Given the description of an element on the screen output the (x, y) to click on. 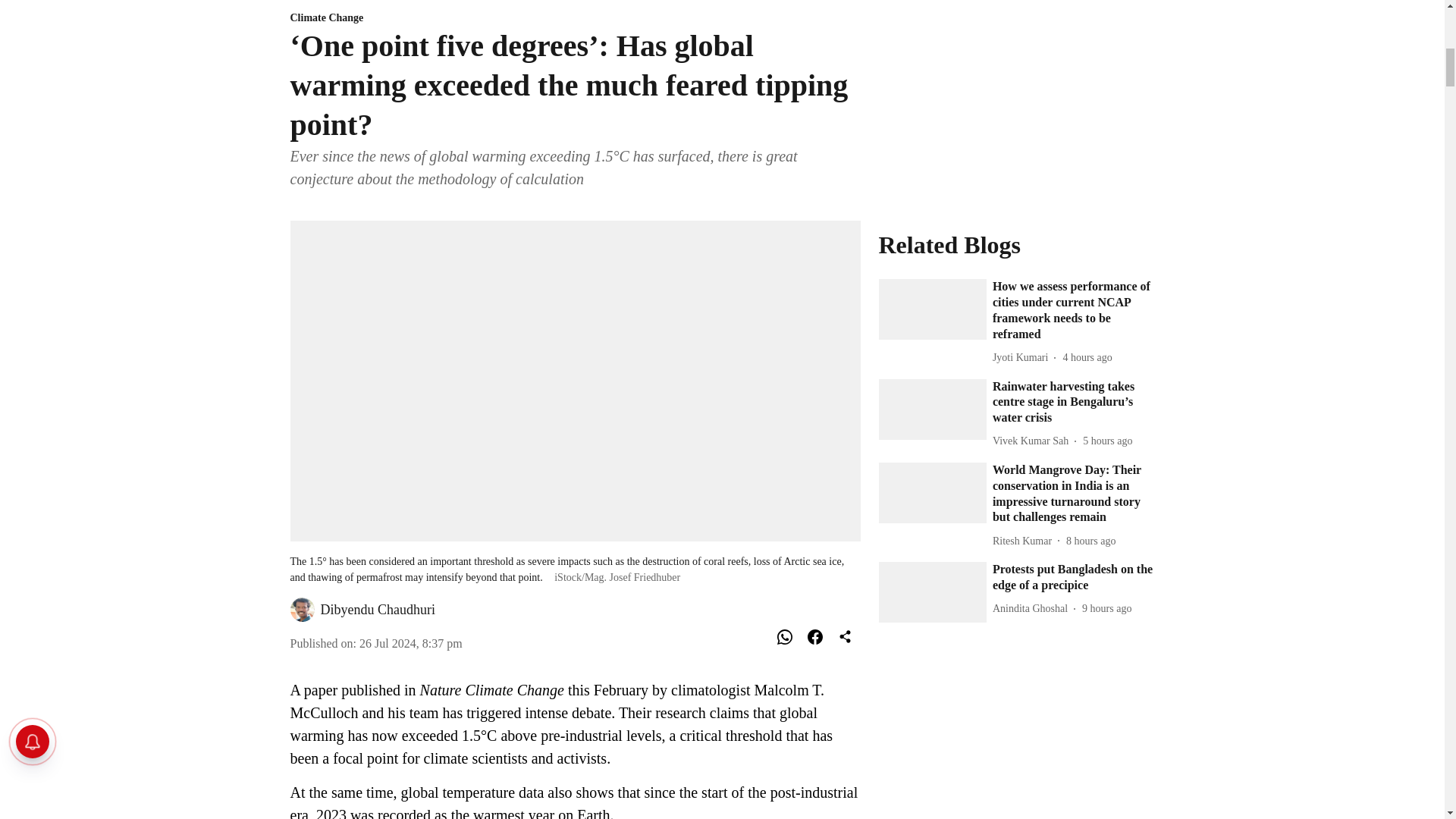
2024-07-26 10:36 (1107, 440)
2024-07-26 06:12 (1106, 608)
2024-07-26 07:35 (1090, 540)
2024-07-26 12:37 (411, 643)
2024-07-26 11:01 (1087, 357)
